Given the description of an element on the screen output the (x, y) to click on. 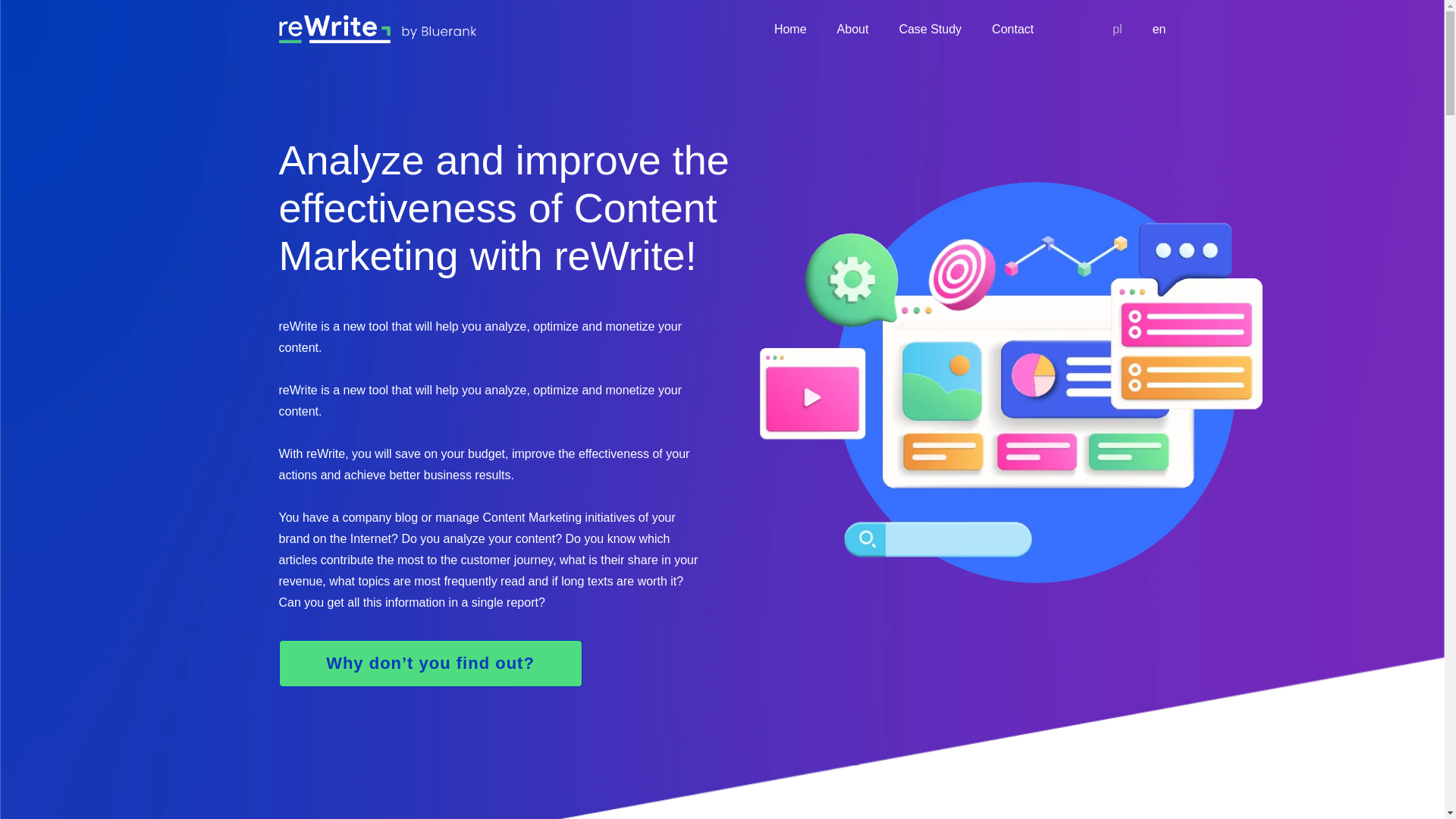
About (853, 28)
Case Study (929, 28)
Home (790, 28)
Contact (1012, 28)
